Given the description of an element on the screen output the (x, y) to click on. 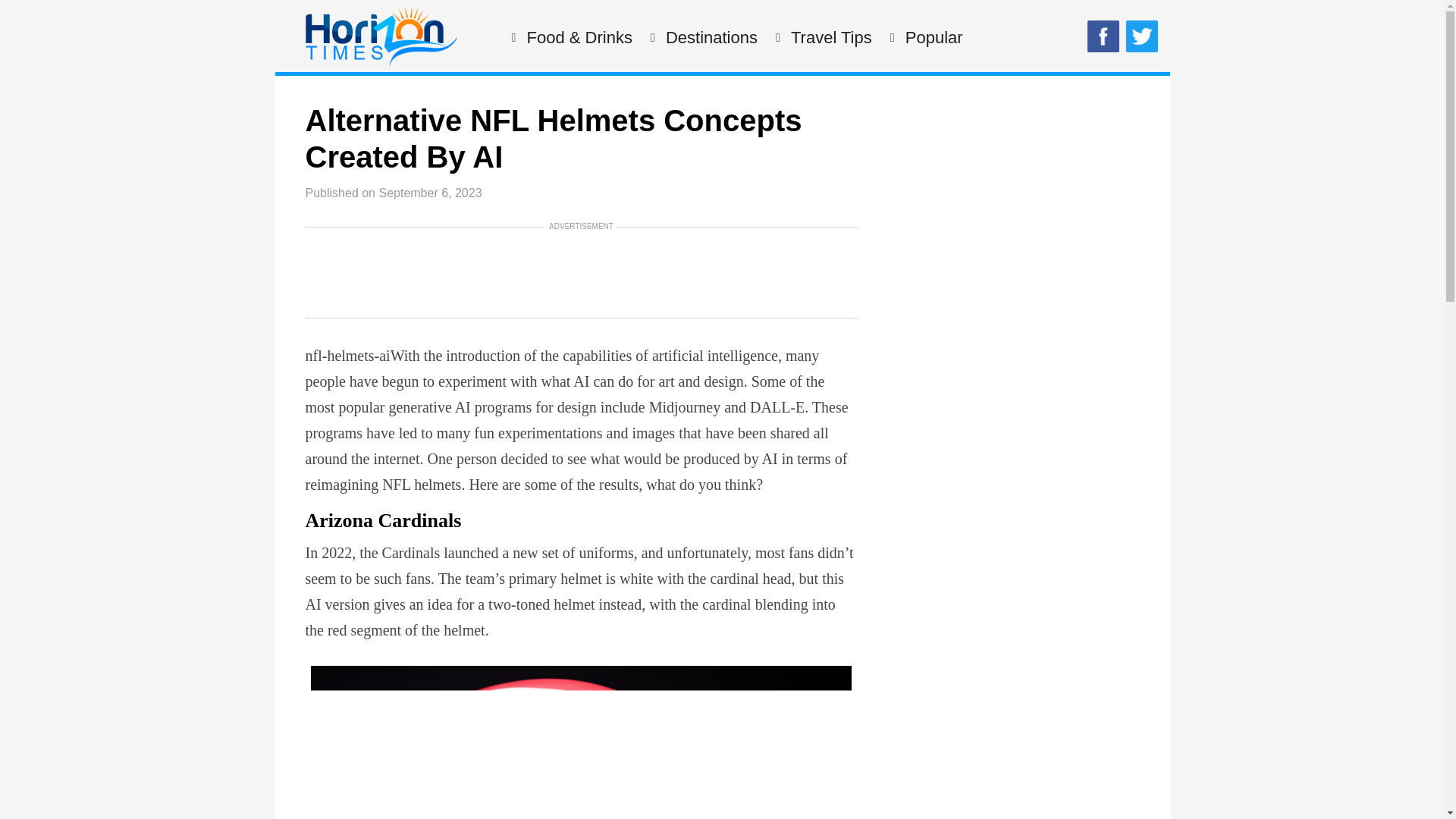
HorizonTimes (380, 65)
Destinations (709, 37)
Travel Tips (829, 37)
Popular (931, 37)
